Given the description of an element on the screen output the (x, y) to click on. 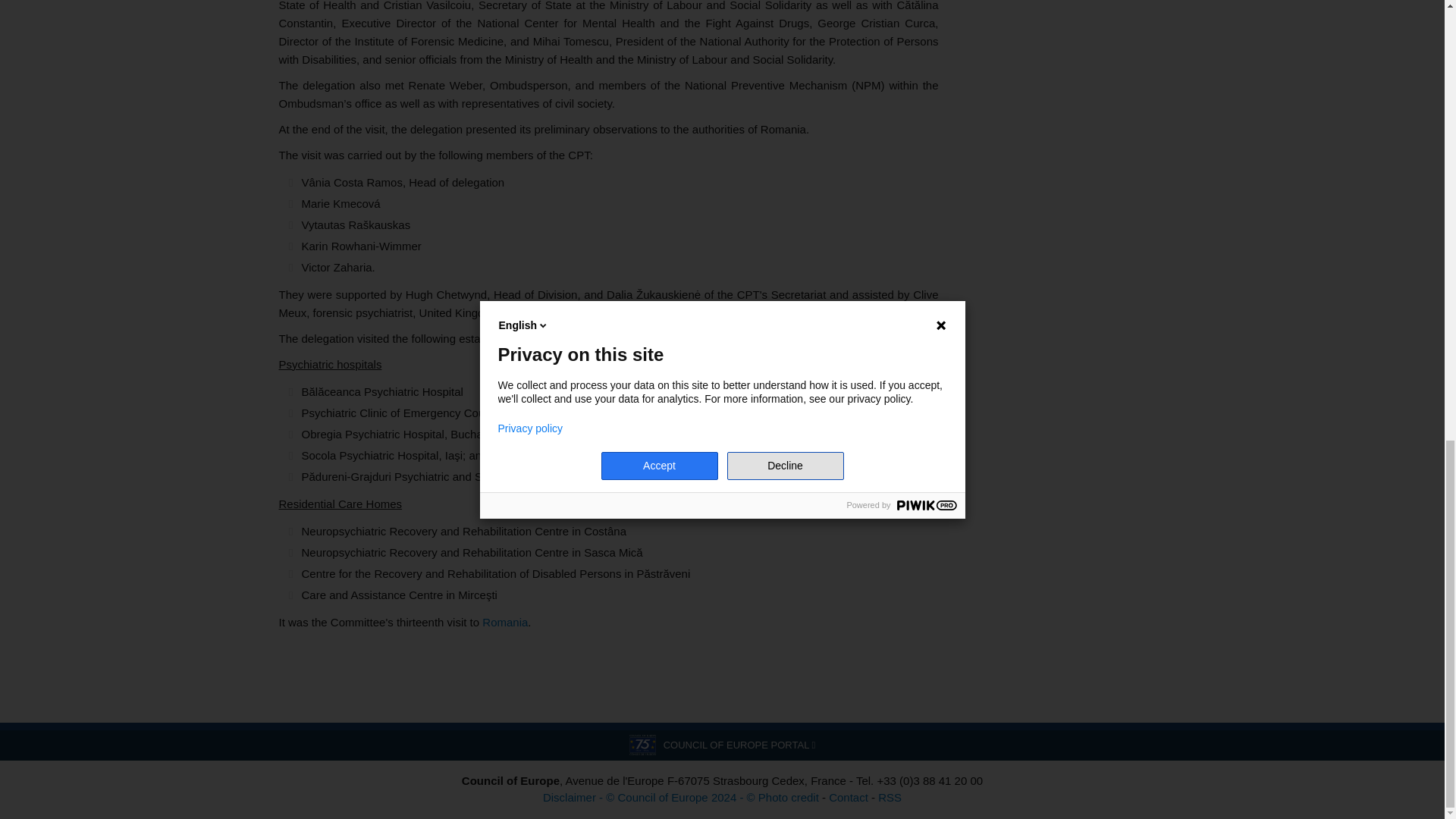
Twitter (312, 661)
Facebook (290, 661)
